Given the description of an element on the screen output the (x, y) to click on. 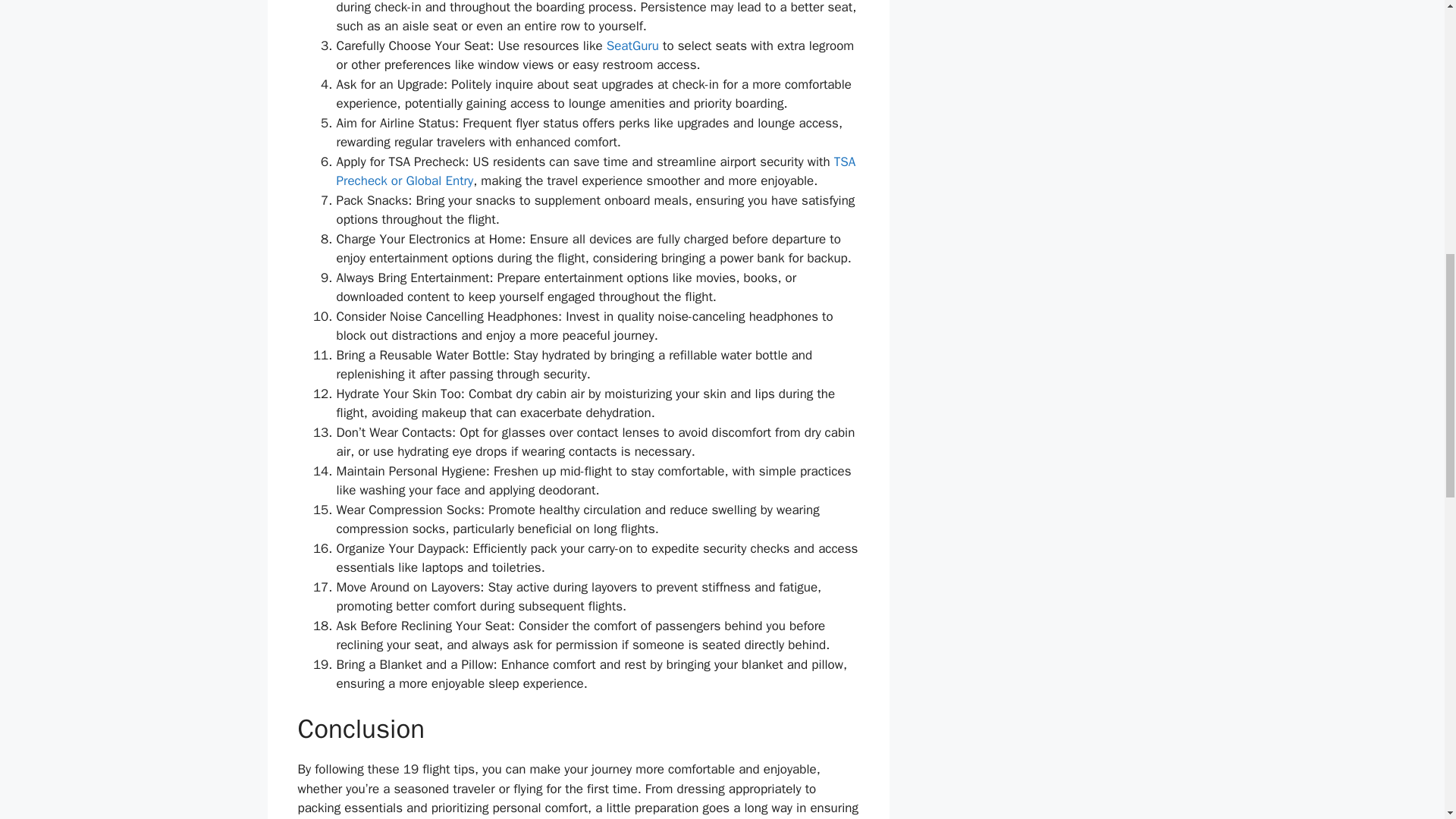
TSA Precheck or Global Entry (596, 171)
SeatGuru (633, 45)
